Given the description of an element on the screen output the (x, y) to click on. 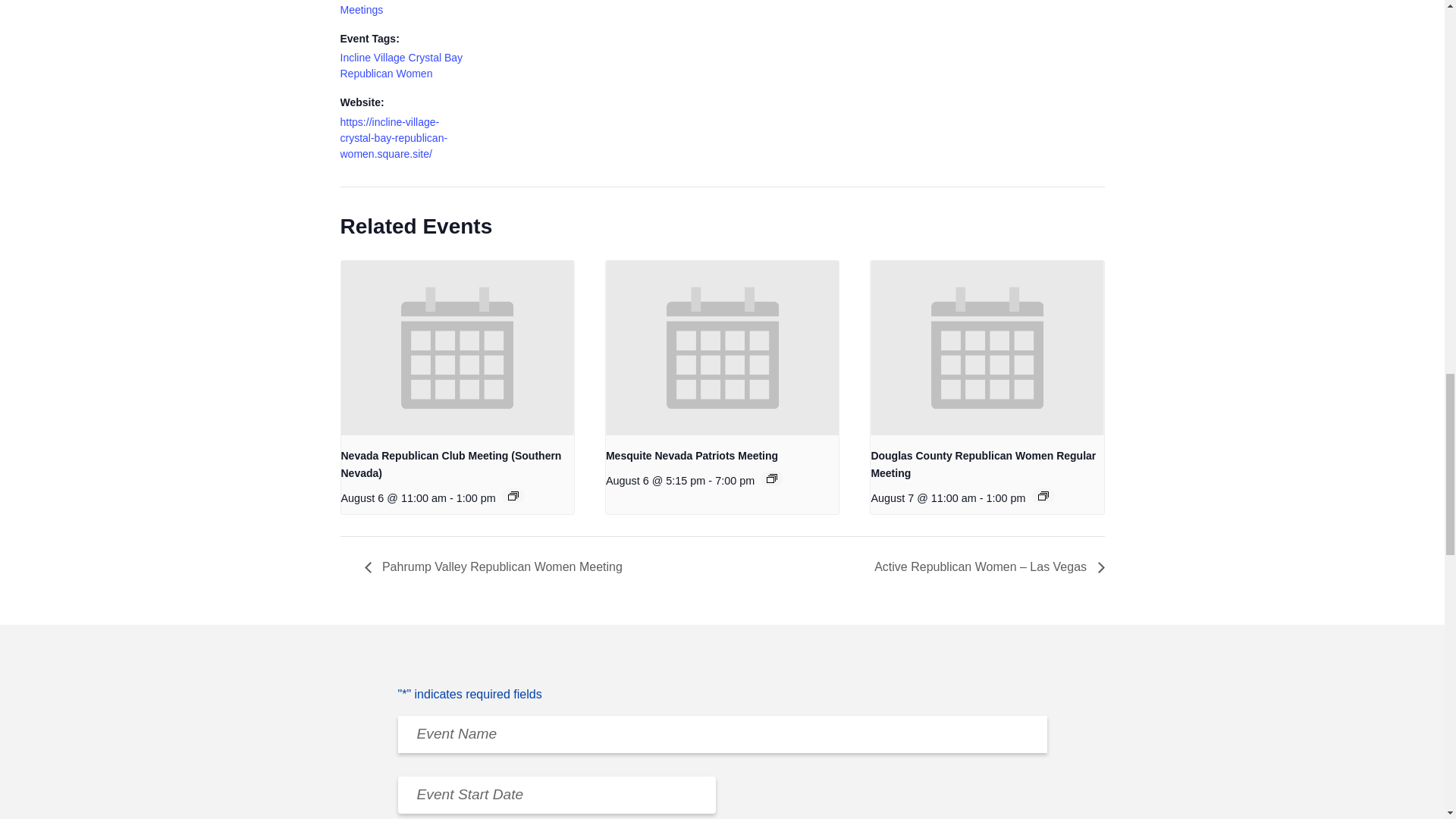
Event Series (513, 495)
Event Series (772, 478)
Event Series (1043, 495)
